Given the description of an element on the screen output the (x, y) to click on. 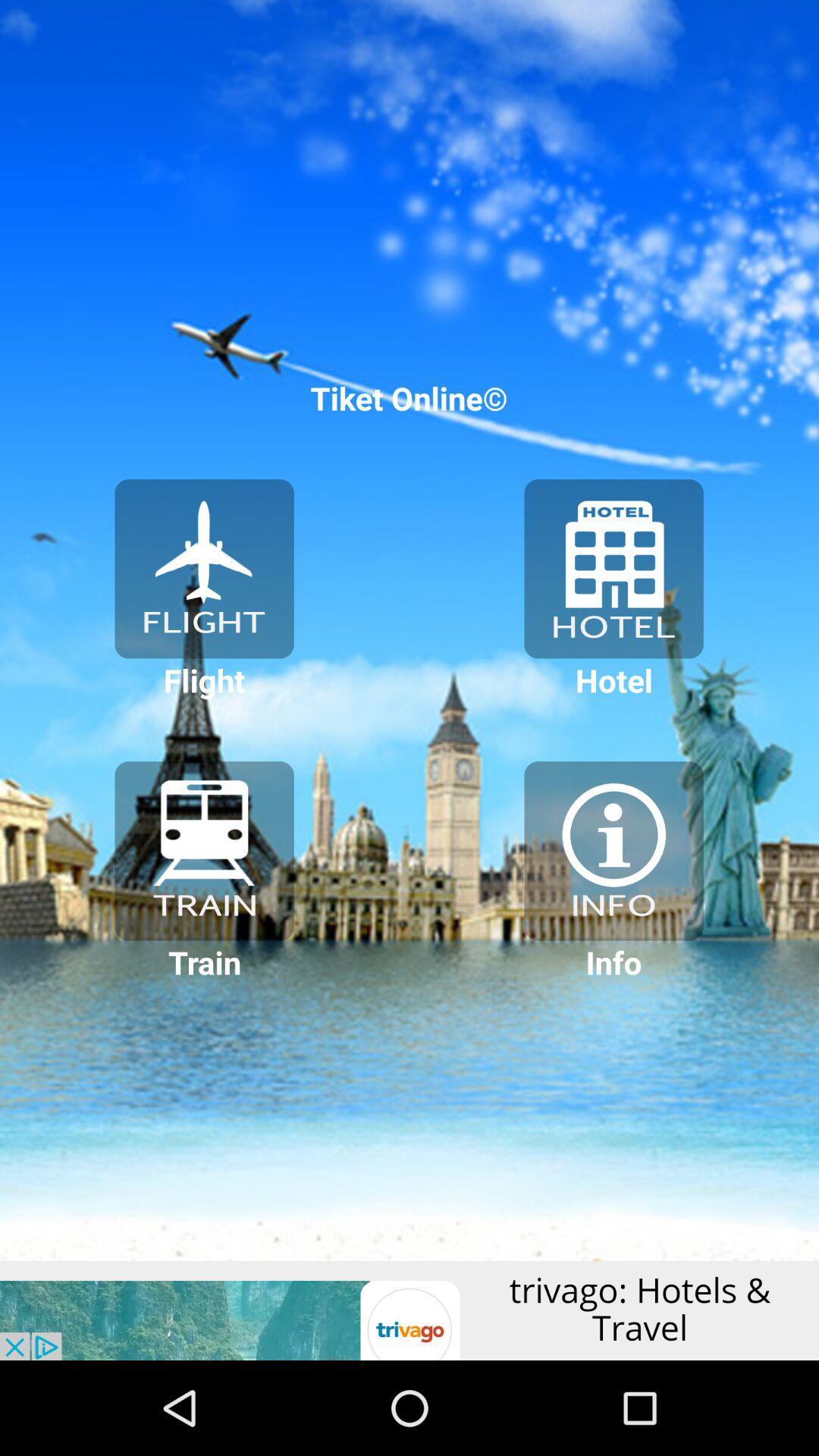
go to customize (613, 850)
